Given the description of an element on the screen output the (x, y) to click on. 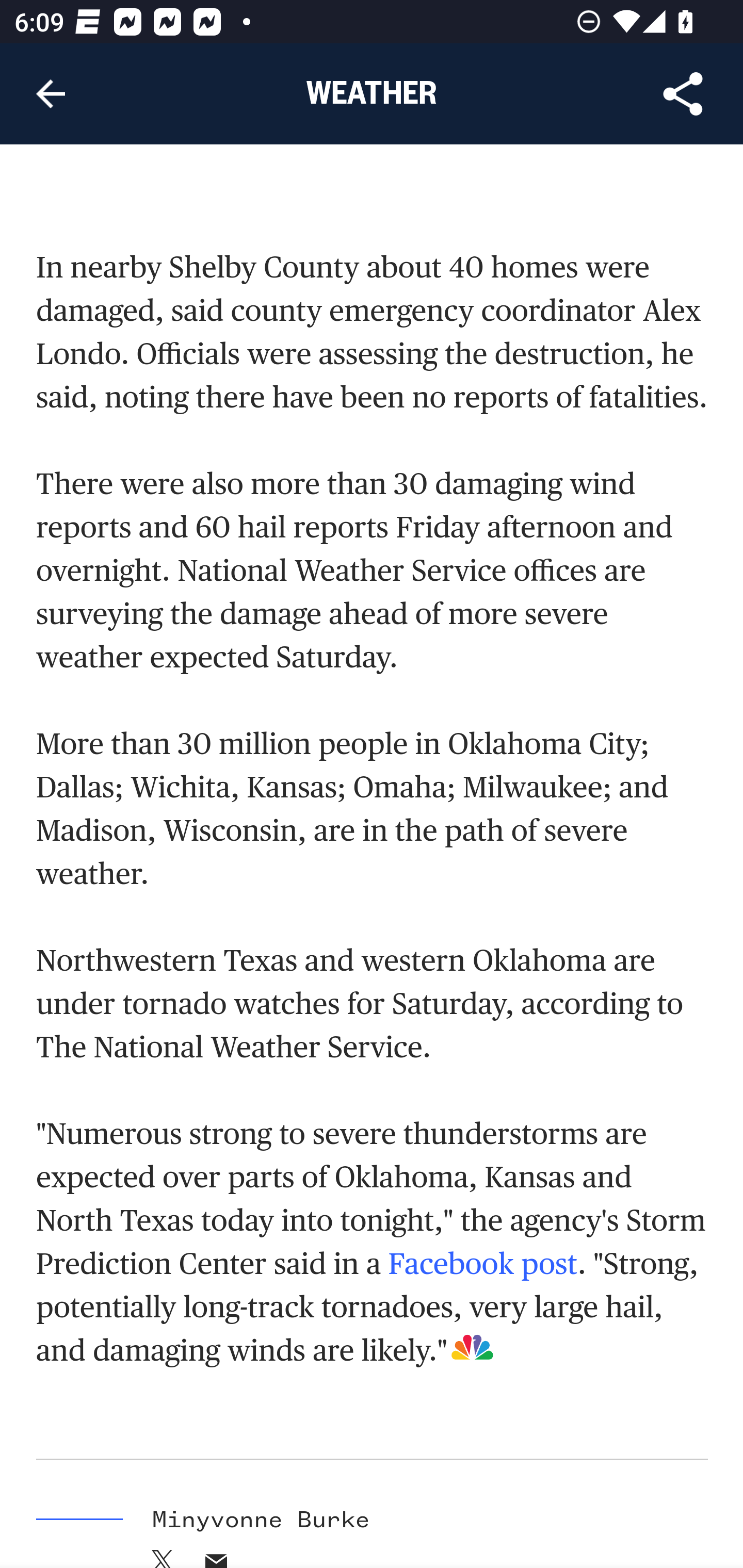
Navigate up (50, 93)
Share Article, button (683, 94)
Facebook post (482, 1264)
Minyvonne Burke (260, 1520)
